Given the description of an element on the screen output the (x, y) to click on. 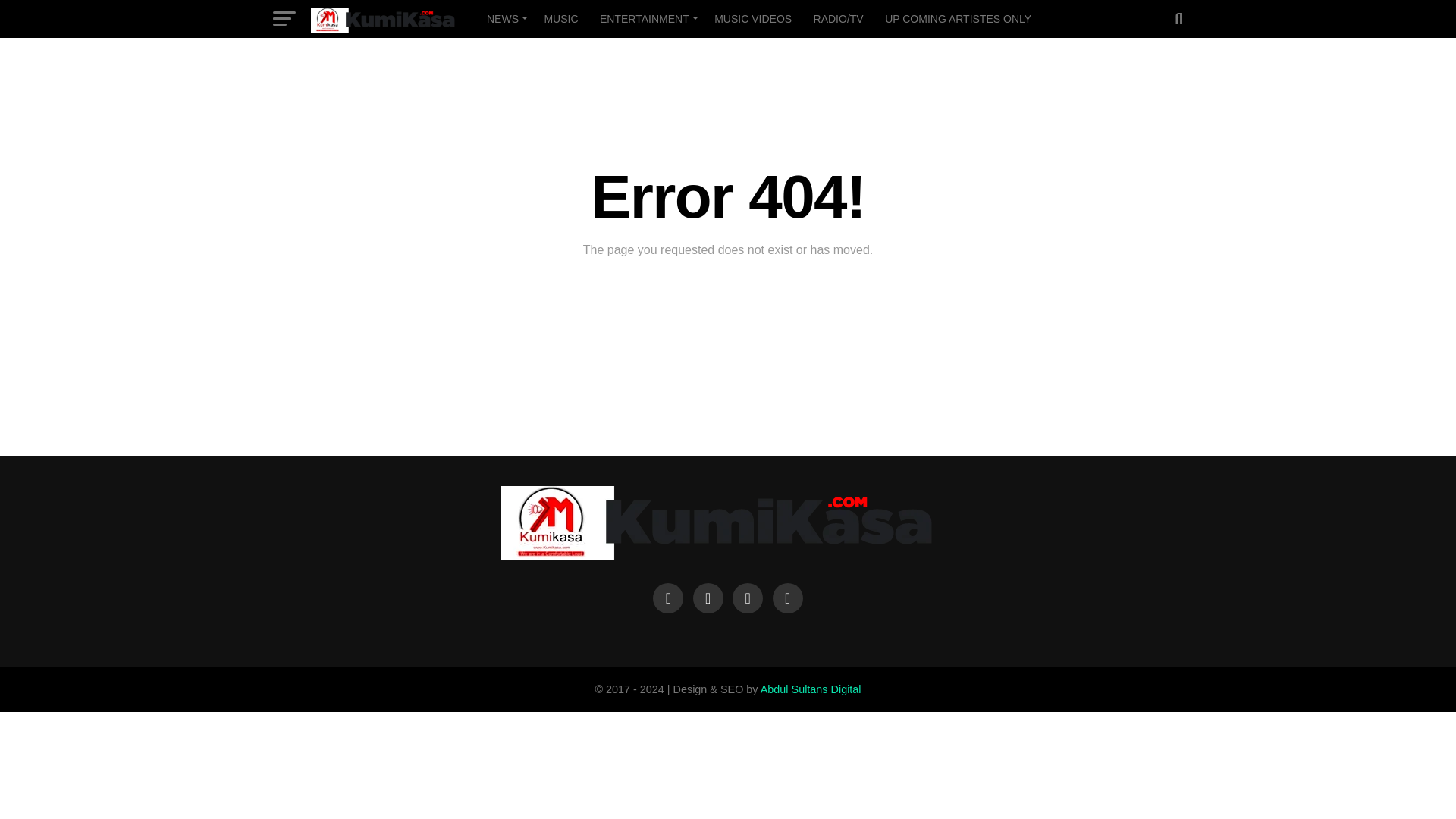
ENTERTAINMENT (646, 18)
MUSIC (560, 18)
NEWS (504, 18)
